Given the description of an element on the screen output the (x, y) to click on. 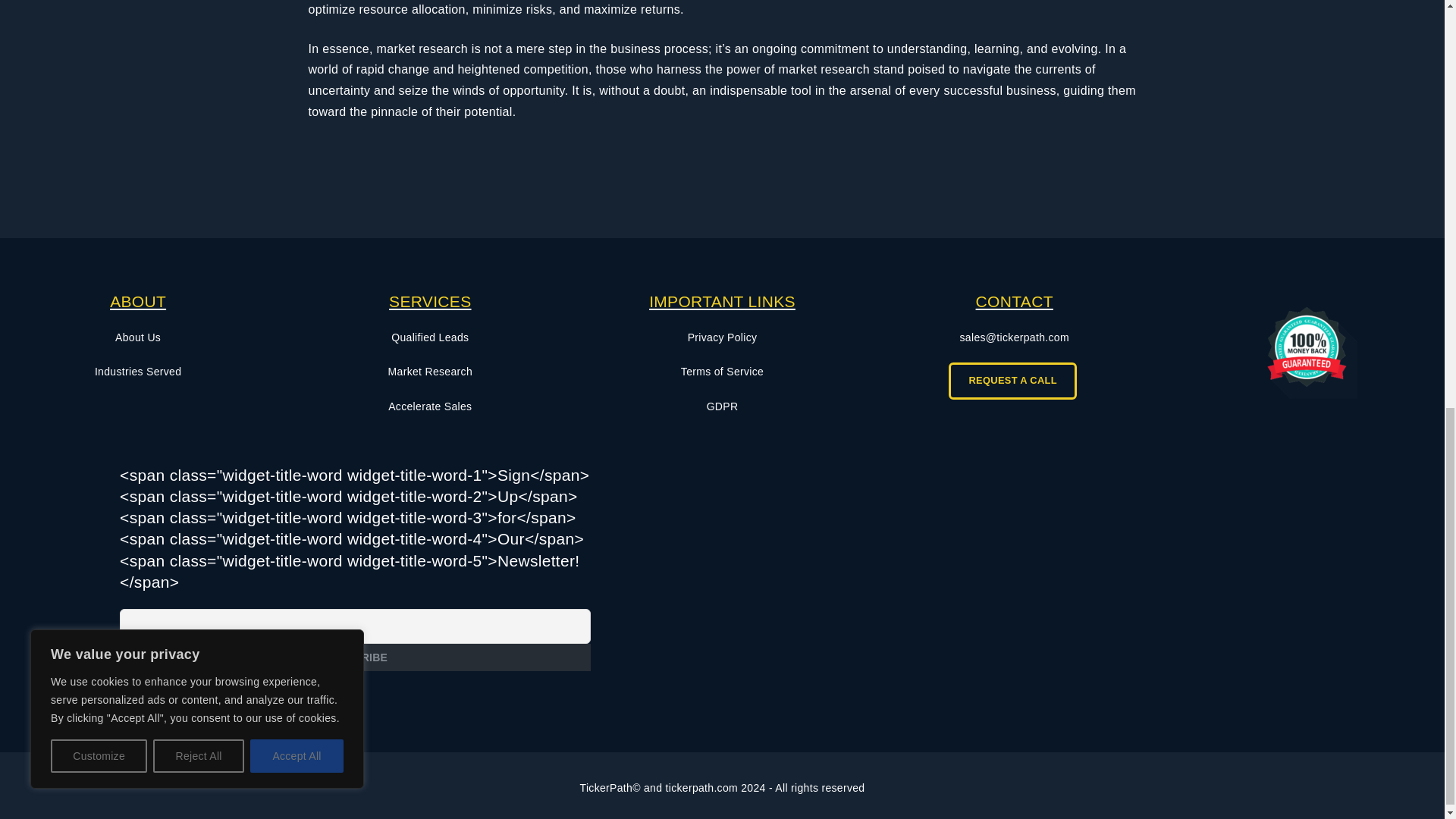
Subscribe (355, 656)
